Given the description of an element on the screen output the (x, y) to click on. 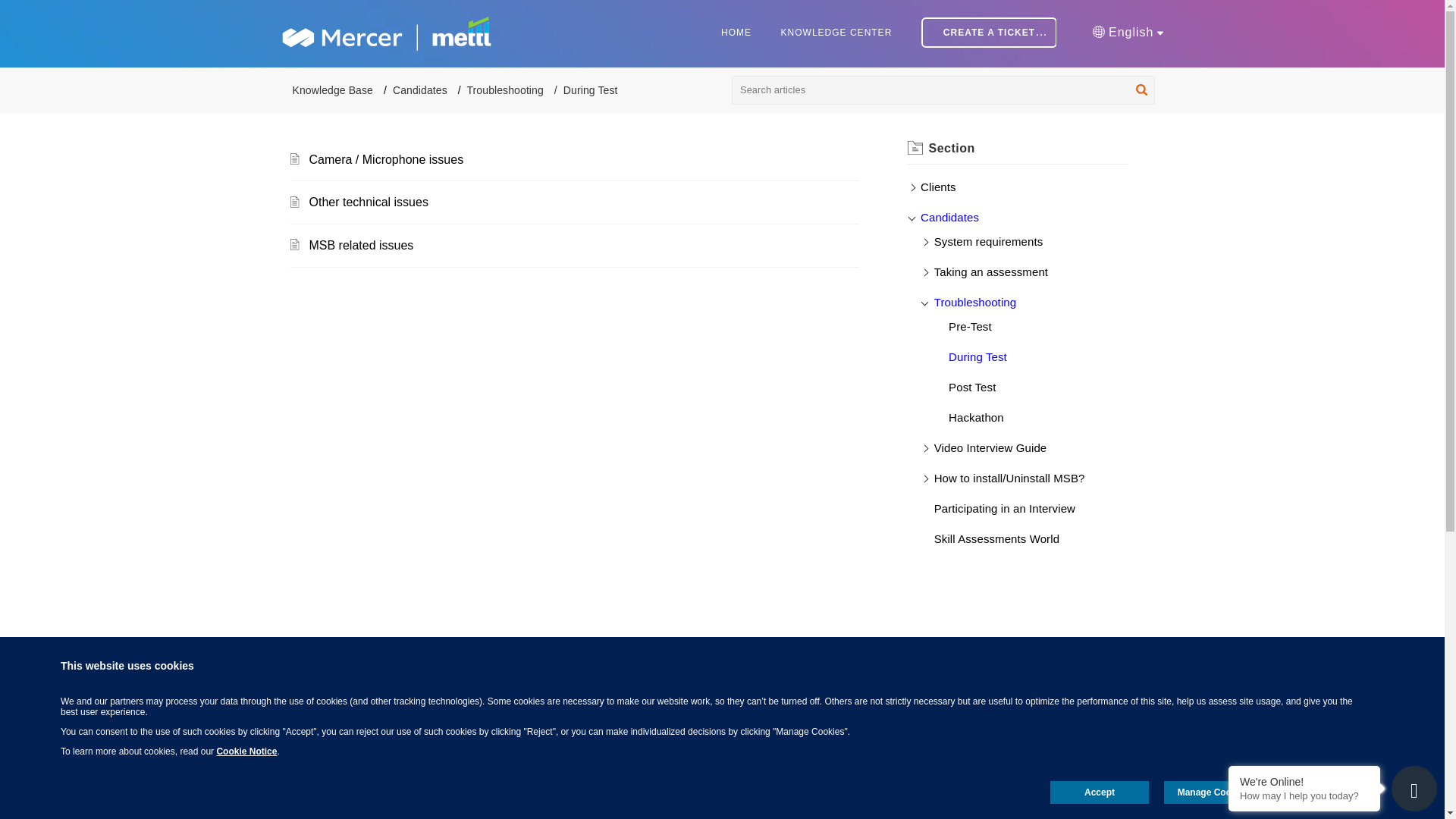
Participating in an Interview (1004, 508)
Pre-Test (970, 326)
Video Interview Guide (990, 447)
Participating in an Interview (1004, 508)
Taking an assessment (991, 271)
Clients (938, 187)
Post Test (972, 387)
Pre-Test (970, 326)
English (1128, 32)
During Test (978, 357)
Troubleshooting (975, 302)
Video Interview Guide (990, 447)
Candidates (419, 90)
System requirements (988, 241)
